Given the description of an element on the screen output the (x, y) to click on. 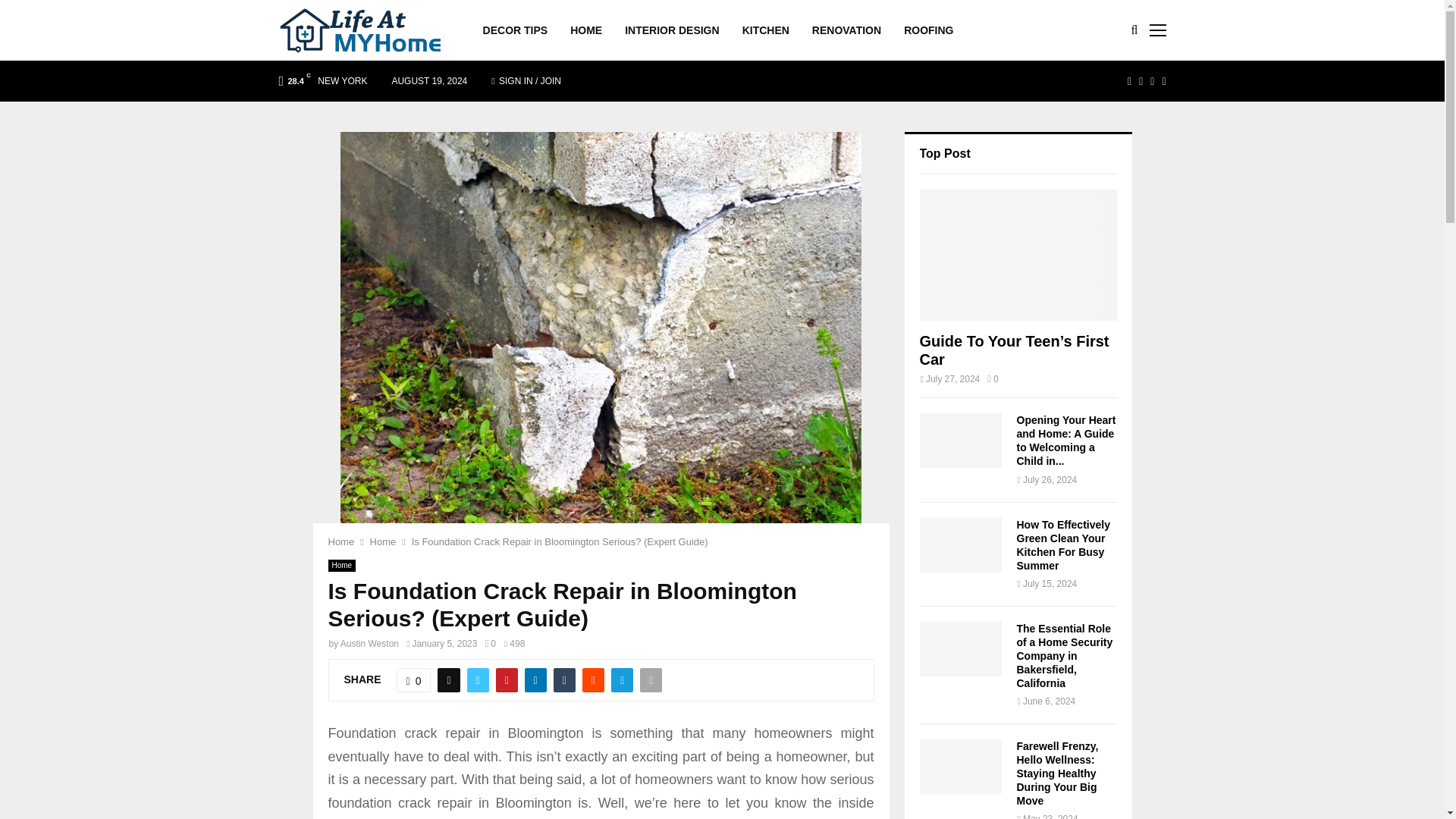
Home (382, 541)
Home (341, 565)
Sign up new account (722, 447)
0 (489, 643)
RENOVATION (846, 30)
Login to your account (722, 328)
INTERIOR DESIGN (671, 30)
Home (340, 541)
Austin Weston (369, 643)
0 (413, 680)
